Given the description of an element on the screen output the (x, y) to click on. 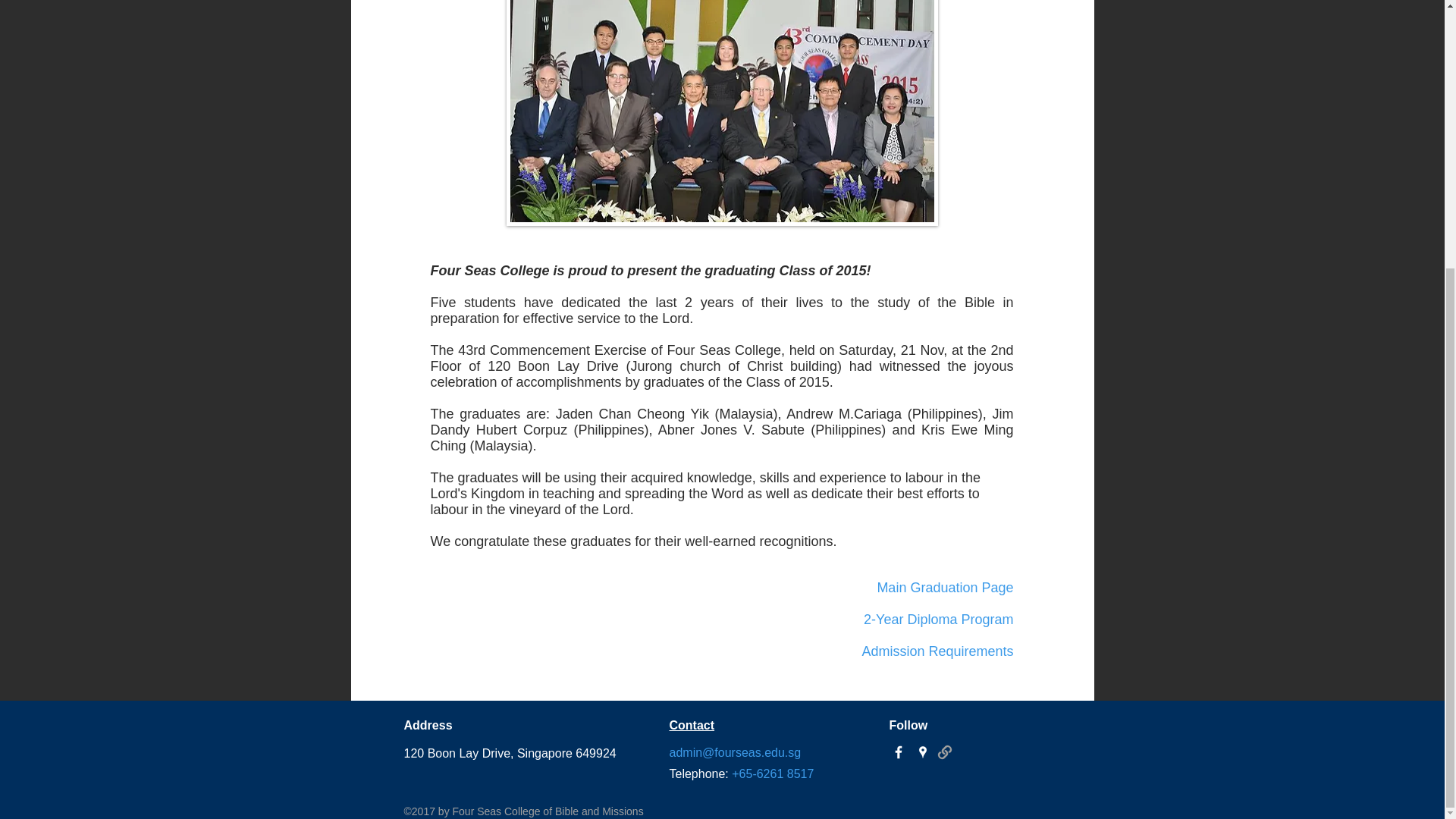
Main Graduation Page (944, 587)
2-Year Diploma Program (938, 619)
Contact (691, 725)
Admission Requirements (937, 651)
